Given the description of an element on the screen output the (x, y) to click on. 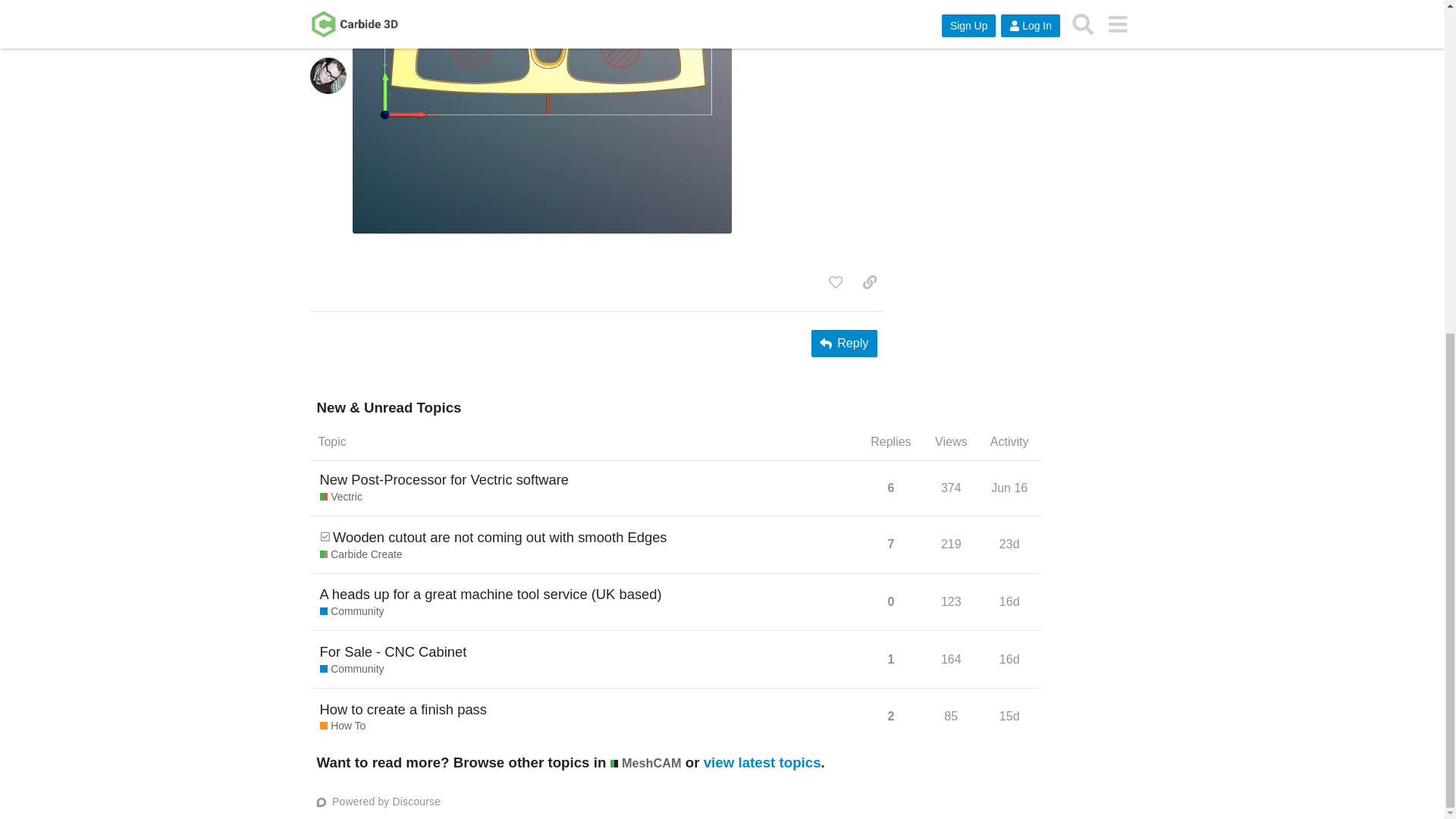
Vectric (341, 497)
MeshCam Problems.png (542, 116)
New Post-Processor for Vectric software (444, 479)
Carbide Create (361, 554)
For Sale - CNC Cabinet (1011, 492)
this topic has been viewed 374 times (393, 651)
copy a link to this post to clipboard (950, 487)
Community (869, 281)
Jun 16 (352, 669)
this topic has been viewed 219 times (1008, 488)
This topic has a solution (950, 543)
How To (325, 536)
How to create a finish pass (343, 726)
MeshCAM (403, 709)
